Given the description of an element on the screen output the (x, y) to click on. 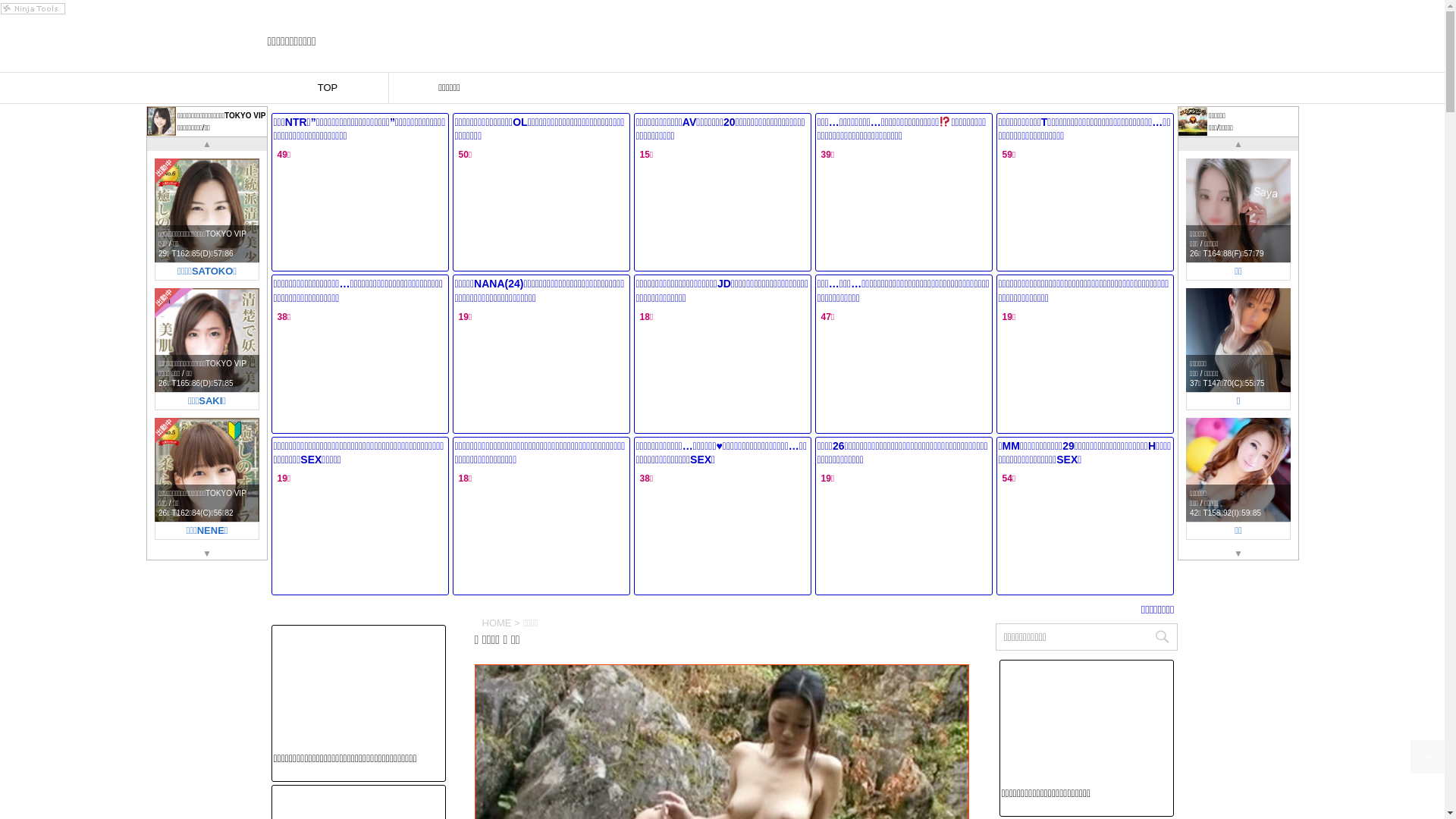
HOME Element type: text (496, 622)
TOP Element type: text (326, 87)
